Given the description of an element on the screen output the (x, y) to click on. 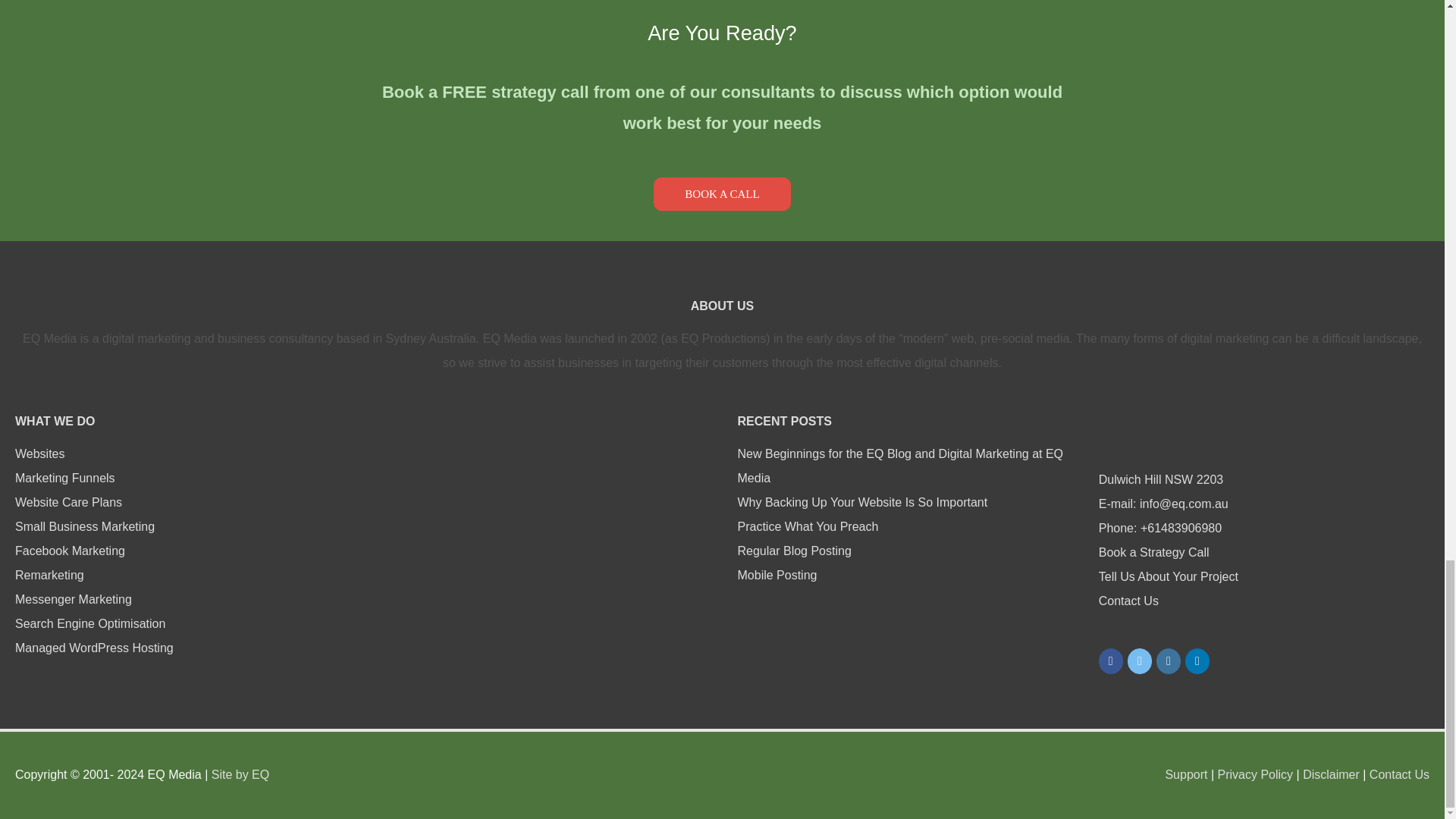
LinkedIn (1197, 661)
EQ Twitter (1138, 661)
EQ Facebook (1110, 661)
Instagram (1168, 661)
